Given the description of an element on the screen output the (x, y) to click on. 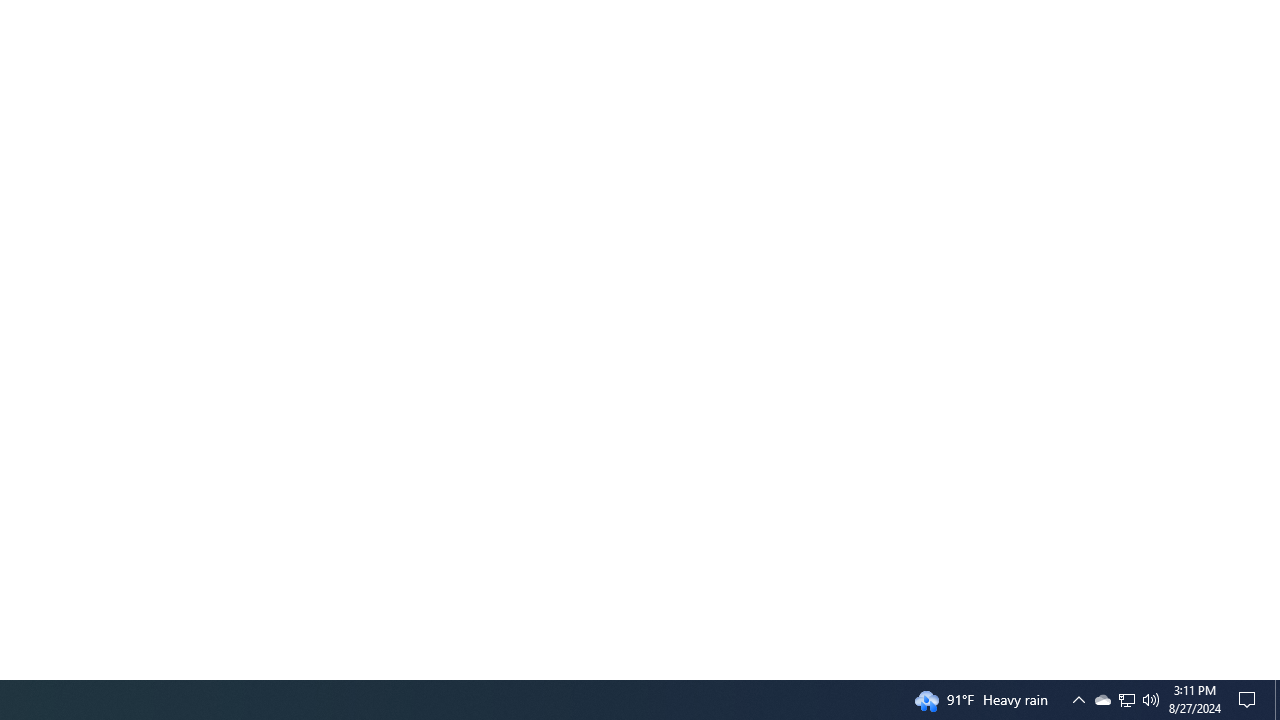
Vertical Small Increase (1272, 671)
